Given the description of an element on the screen output the (x, y) to click on. 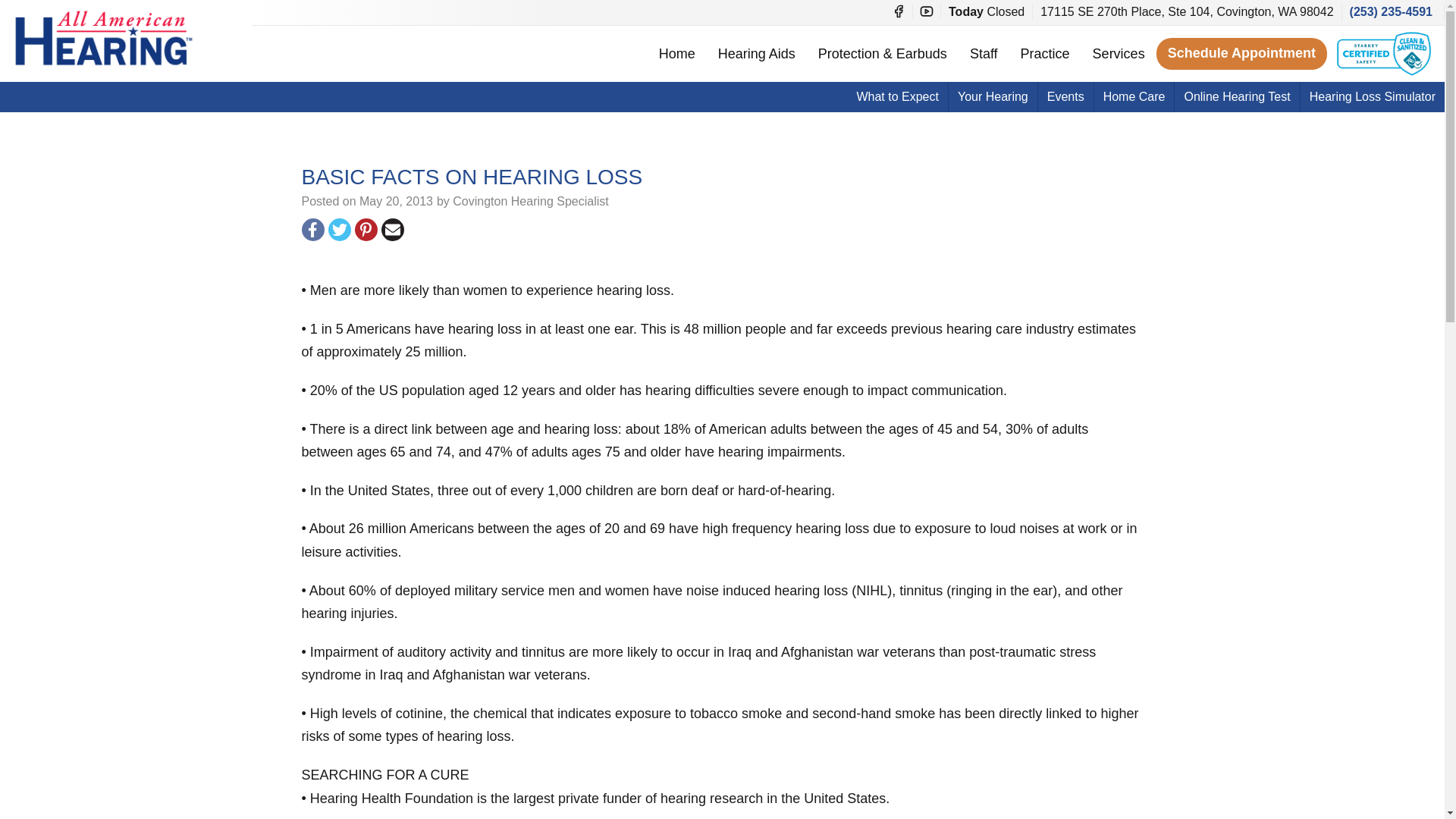
What to Expect (897, 96)
Home (676, 53)
Services (1118, 53)
Schedule Appointment (1241, 53)
Your Hearing (992, 96)
Home Care (1134, 96)
Hearing Aids (756, 53)
homepage (103, 37)
All American Hearing Facebook (898, 11)
All American Hearing Youtube (926, 11)
